Given the description of an element on the screen output the (x, y) to click on. 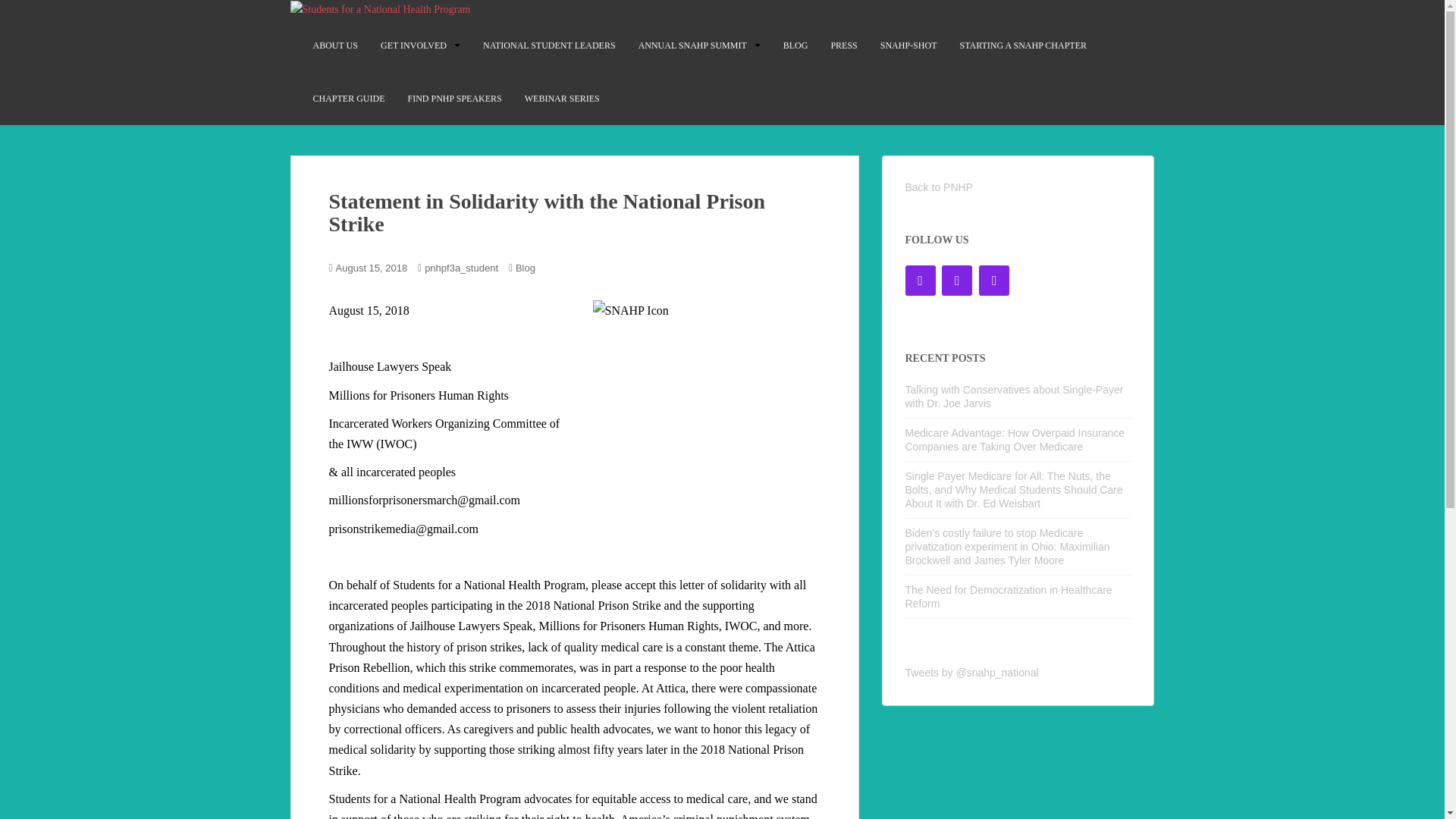
Blog (525, 267)
GET INVOLVED (413, 45)
FIND PNHP SPEAKERS (454, 98)
Back to PNHP (938, 186)
CHAPTER GUIDE (348, 98)
NATIONAL STUDENT LEADERS (549, 45)
August 15, 2018 (371, 267)
STARTING A SNAHP CHAPTER (1022, 45)
ANNUAL SNAHP SUMMIT (692, 45)
